Given the description of an element on the screen output the (x, y) to click on. 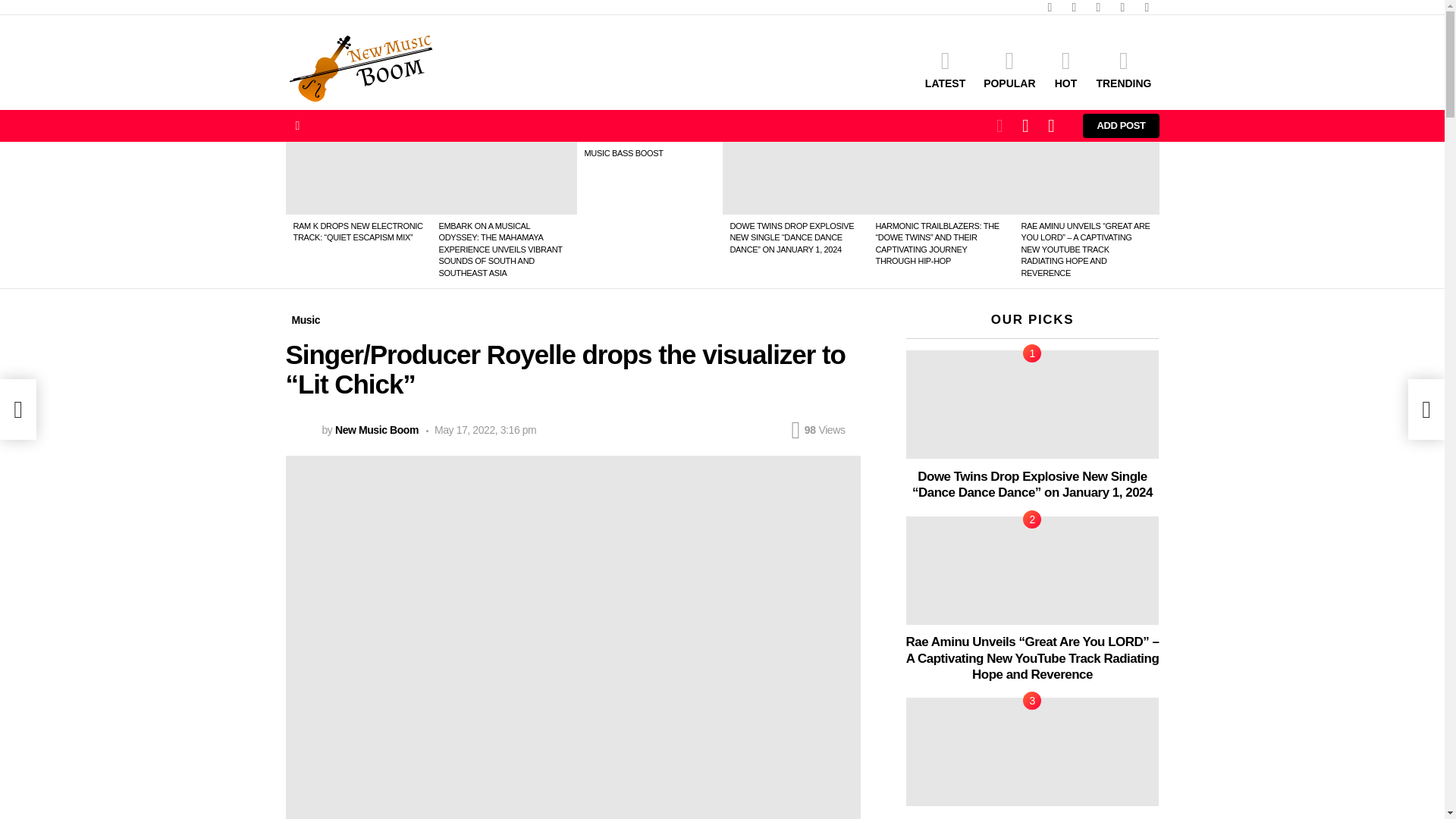
MUSIC BASS BOOST (622, 153)
youtube (1146, 7)
twitter (1073, 7)
Menu (296, 126)
New Music Boom (376, 429)
ADD POST (1120, 125)
LATEST (944, 68)
facebook (1048, 7)
